Given the description of an element on the screen output the (x, y) to click on. 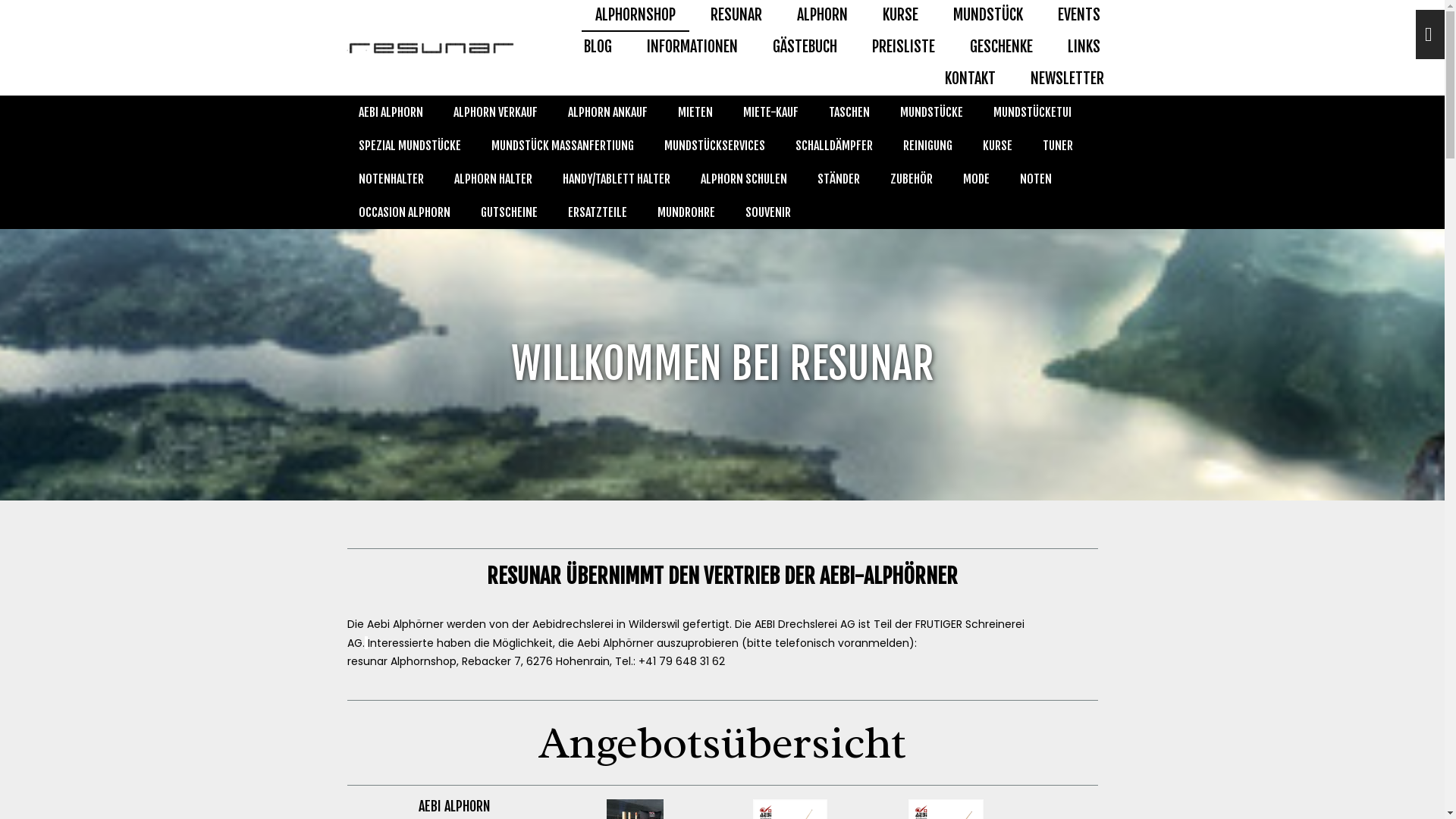
TASCHEN Element type: text (848, 111)
REINIGUNG Element type: text (926, 145)
RESUNAR Element type: text (735, 15)
PREISLISTE Element type: text (903, 47)
OCCASION ALPHORN Element type: text (403, 212)
KONTAKT Element type: text (970, 79)
EVENTS Element type: text (1078, 15)
ALPHORN HALTER Element type: text (492, 178)
SOUVENIR Element type: text (767, 212)
ALPHORN Element type: text (821, 15)
KURSE Element type: text (997, 145)
ERSATZTEILE Element type: text (596, 212)
ALPHORN SCHULEN Element type: text (743, 178)
HANDY/TABLETT HALTER Element type: text (616, 178)
BLOG Element type: text (597, 47)
NOTEN Element type: text (1035, 178)
LINKS Element type: text (1083, 47)
MODE Element type: text (975, 178)
GESCHENKE Element type: text (1000, 47)
TUNER Element type: text (1056, 145)
GUTSCHEINE Element type: text (508, 212)
ALPHORN VERKAUF Element type: text (495, 111)
MIETE-KAUF Element type: text (770, 111)
NOTENHALTER Element type: text (390, 178)
MUNDROHRE Element type: text (685, 212)
NEWSLETTER Element type: text (1066, 79)
WILLKOMMEN BEI RESUNAR Element type: text (721, 364)
MIETEN Element type: text (695, 111)
ALPHORN ANKAUF Element type: text (607, 111)
AEBI ALPHORN Element type: text (389, 111)
KURSE Element type: text (900, 15)
INFORMATIONEN Element type: text (691, 47)
ALPHORNSHOP Element type: text (634, 15)
